Given the description of an element on the screen output the (x, y) to click on. 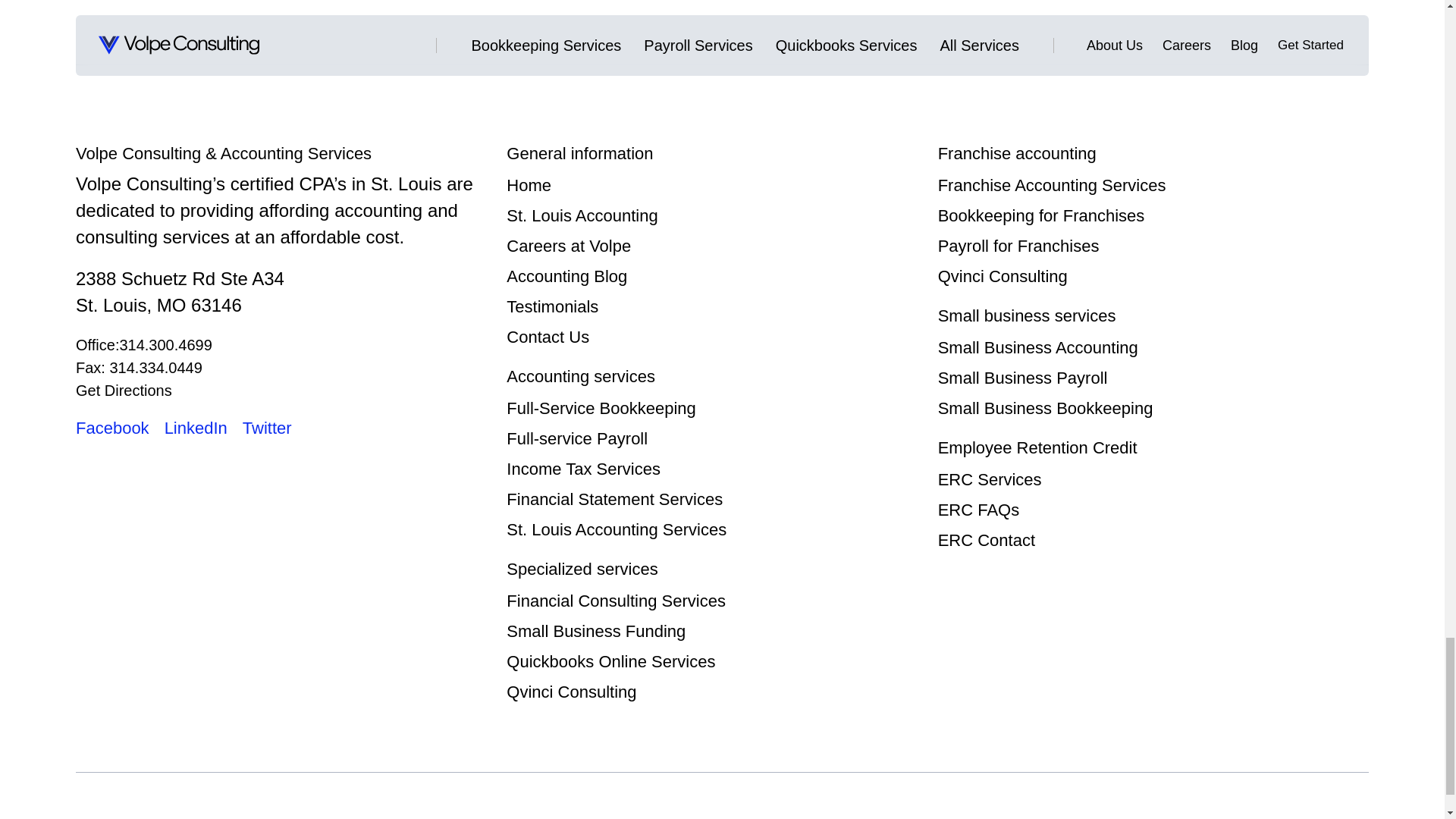
Income Tax Services (583, 469)
Facebook (112, 427)
Financial Consulting Services (615, 600)
Testimonials (552, 306)
Full-service Payroll (576, 438)
Careers at Volpe (568, 245)
LinkedIn (195, 427)
Small Business Funding (595, 631)
Qvinci Consulting (571, 691)
Home (528, 184)
